Given the description of an element on the screen output the (x, y) to click on. 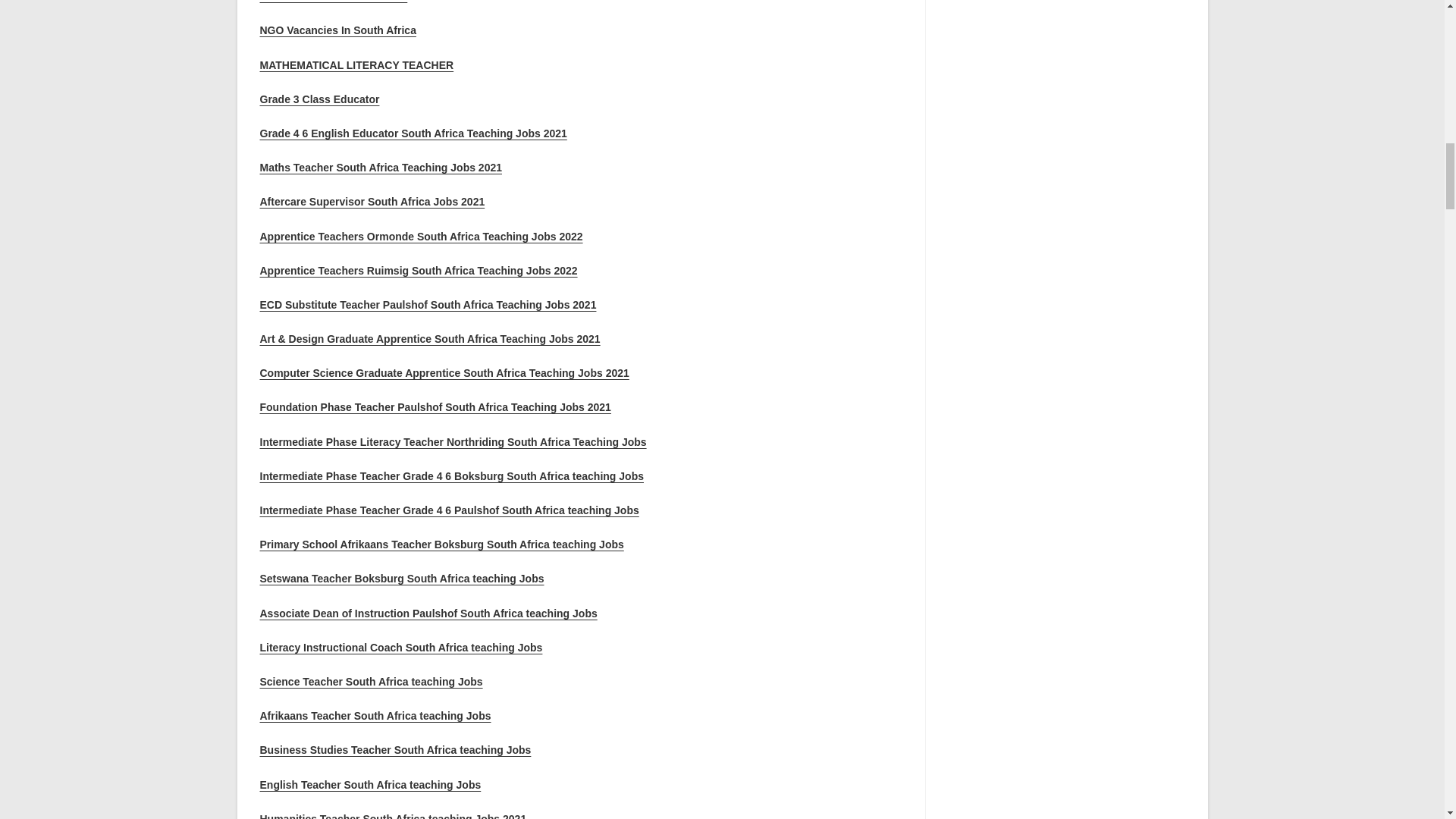
Apprentice Teachers Ormonde South Africa Teaching Jobs 2022 (420, 236)
Apprentice Teachers Ruimsig South Africa Teaching Jobs 2022 (417, 270)
UN Vacancies in South Africa (333, 1)
Maths Teacher South Africa Teaching Jobs 2021 (380, 167)
Grade 4 6 English Educator South Africa Teaching Jobs 2021 (412, 133)
